Given the description of an element on the screen output the (x, y) to click on. 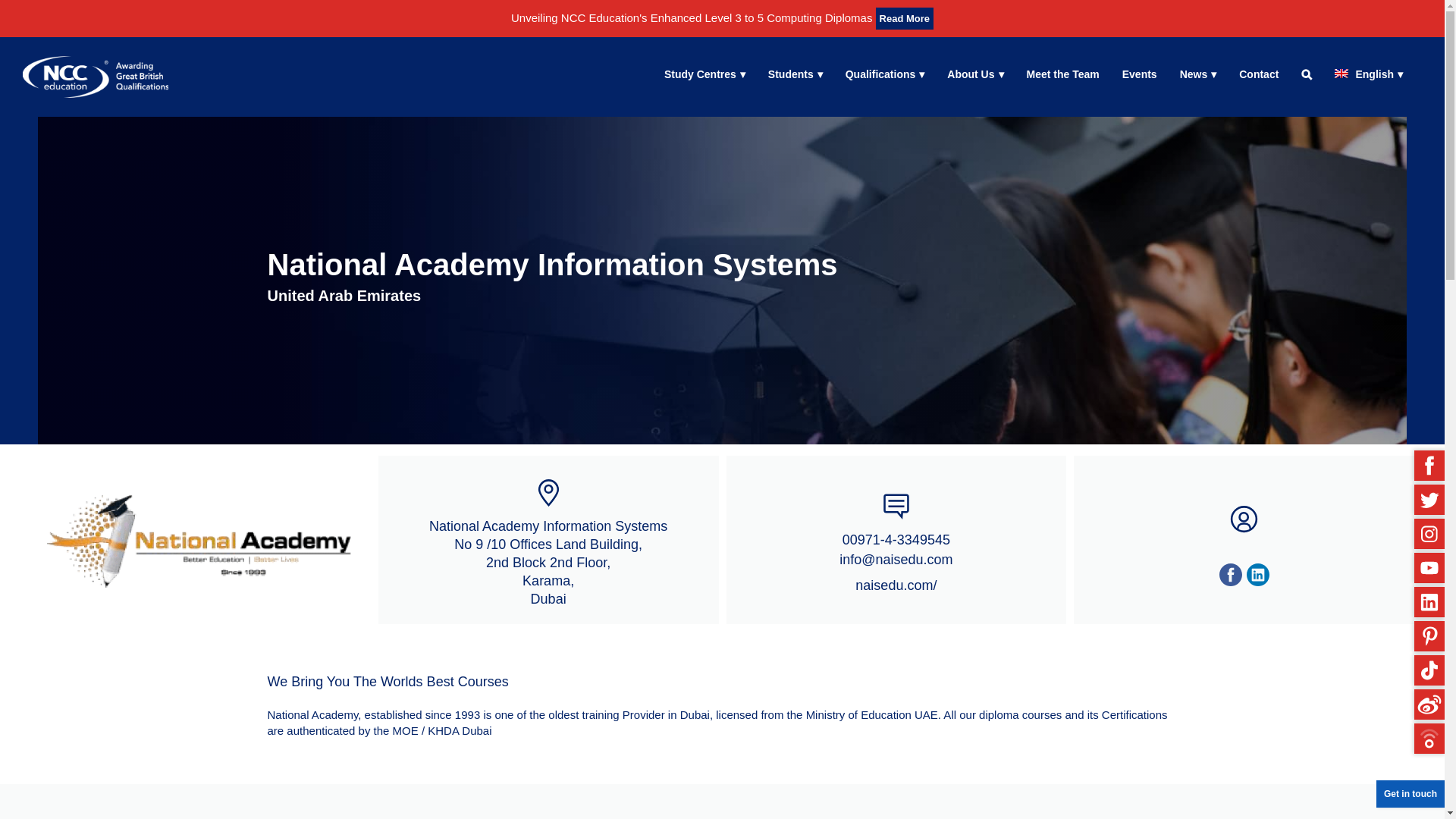
News (1198, 74)
Meet the Team (1062, 74)
Study Centres (704, 74)
Read More (904, 18)
Contact (1258, 74)
About Us (975, 74)
English (1368, 74)
Qualifications (885, 74)
Events (1139, 74)
Students (795, 74)
